Given the description of an element on the screen output the (x, y) to click on. 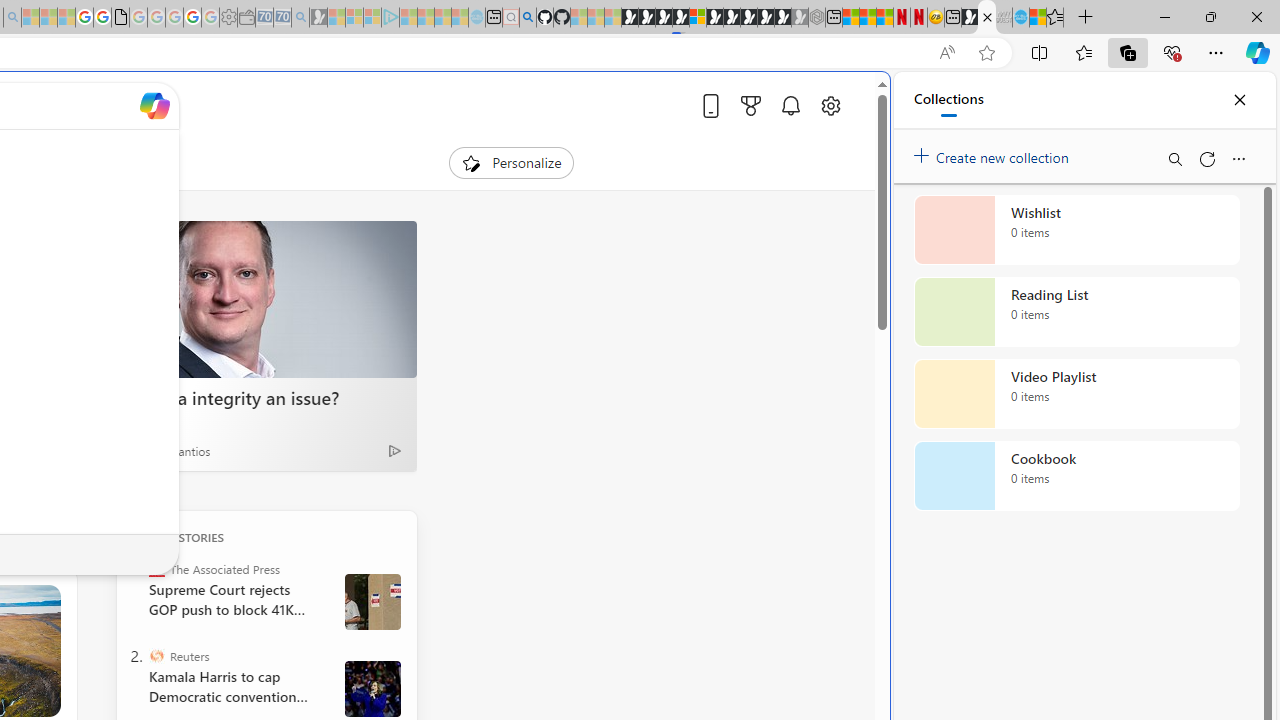
Tabs you've opened (276, 265)
Settings - Sleeping (228, 17)
